Given the description of an element on the screen output the (x, y) to click on. 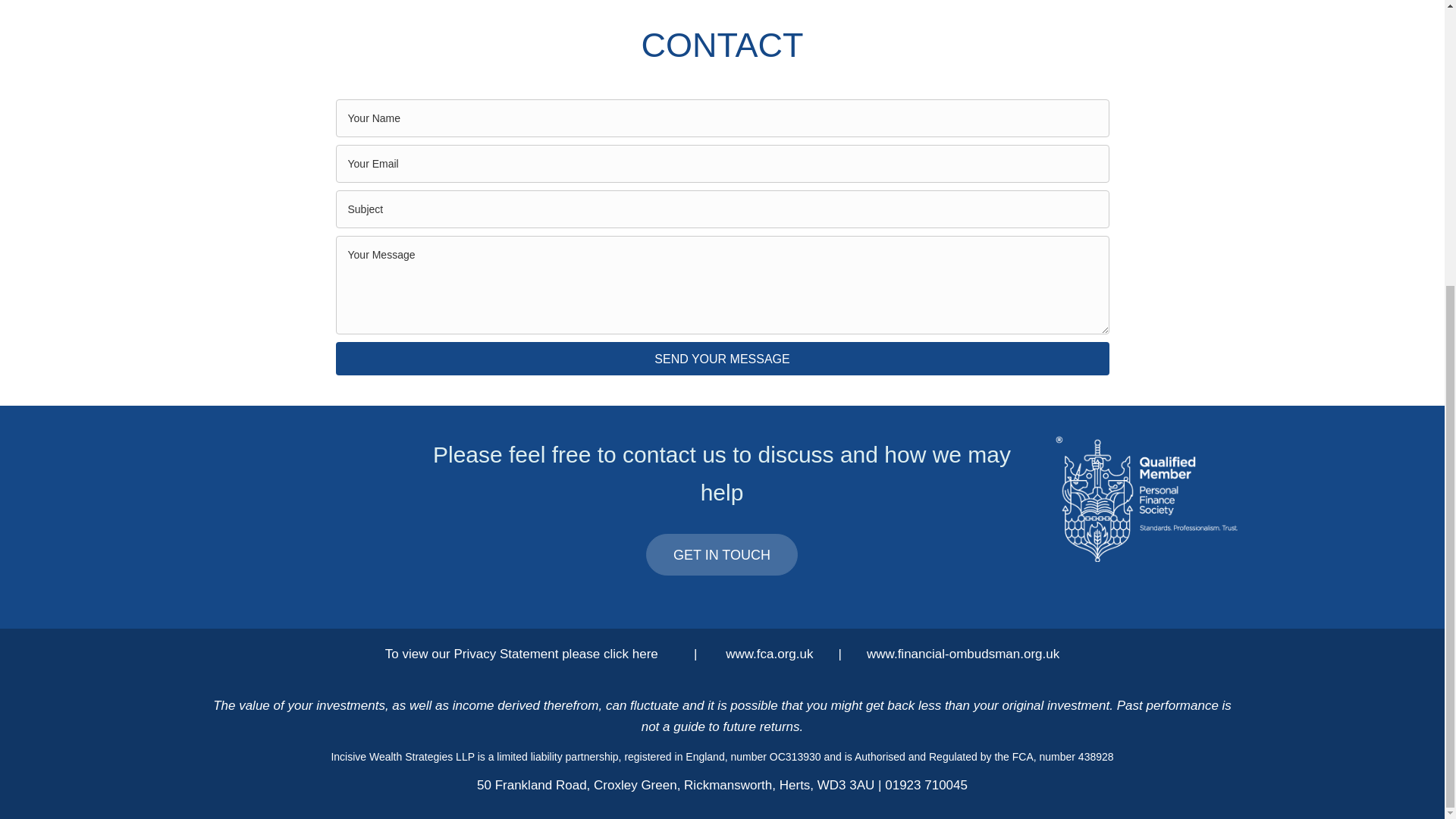
SEND YOUR MESSAGE (721, 358)
  www.fca.org.uk   (767, 653)
GET IN TOUCH (721, 554)
click here  (634, 653)
 www.financial-ombudsman.org.uk (961, 653)
